Given the description of an element on the screen output the (x, y) to click on. 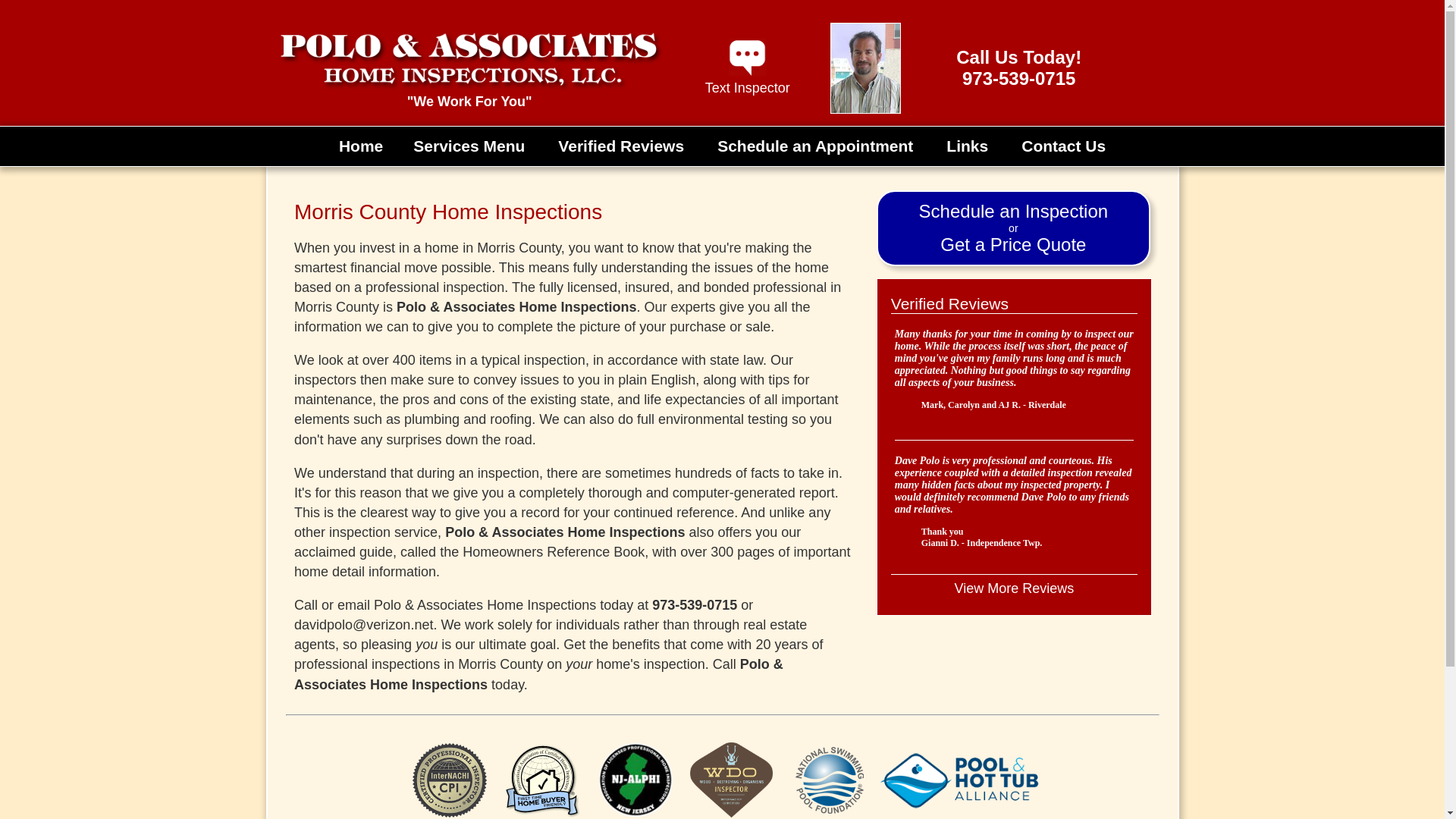
Home (360, 146)
Contact Us (1063, 146)
Text Inspector (1013, 228)
Services Menu (747, 79)
View More Reviews (468, 146)
Verified Reviews (1013, 588)
Links (620, 146)
Schedule an Appointment (966, 146)
